Given the description of an element on the screen output the (x, y) to click on. 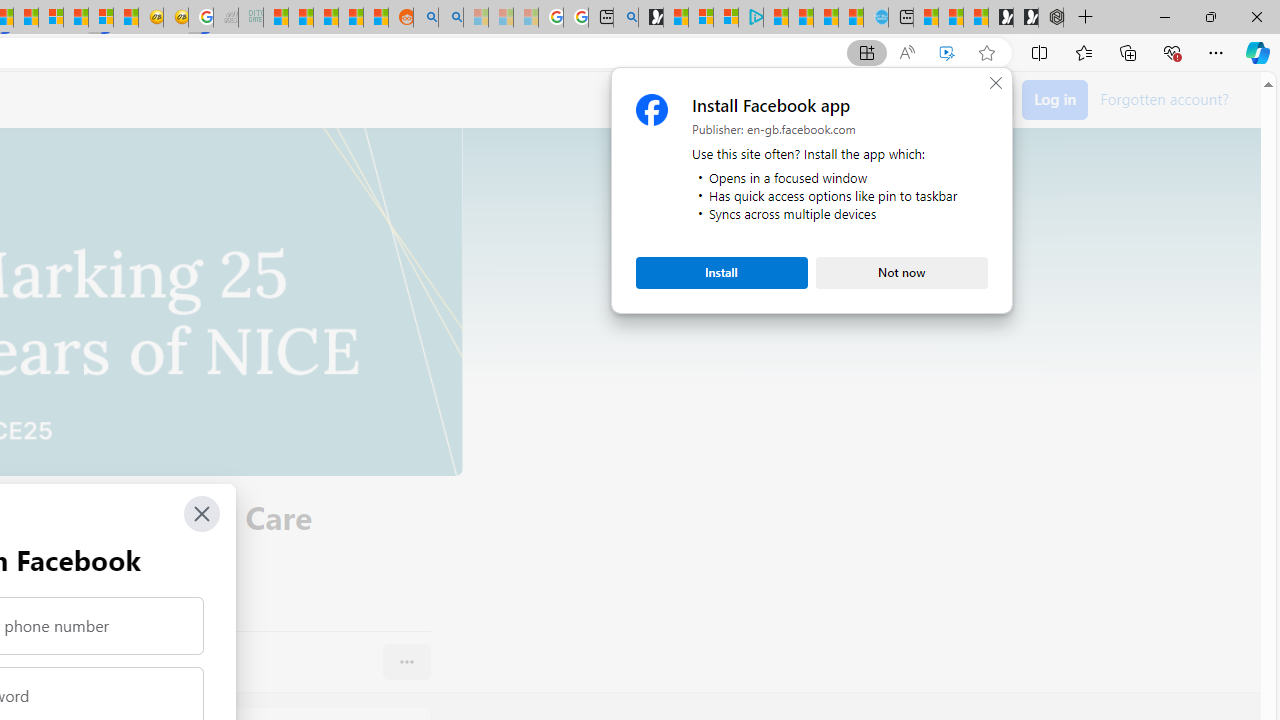
Bing Real Estate - Home sales and rental listings (625, 17)
Install (721, 272)
